Given the description of an element on the screen output the (x, y) to click on. 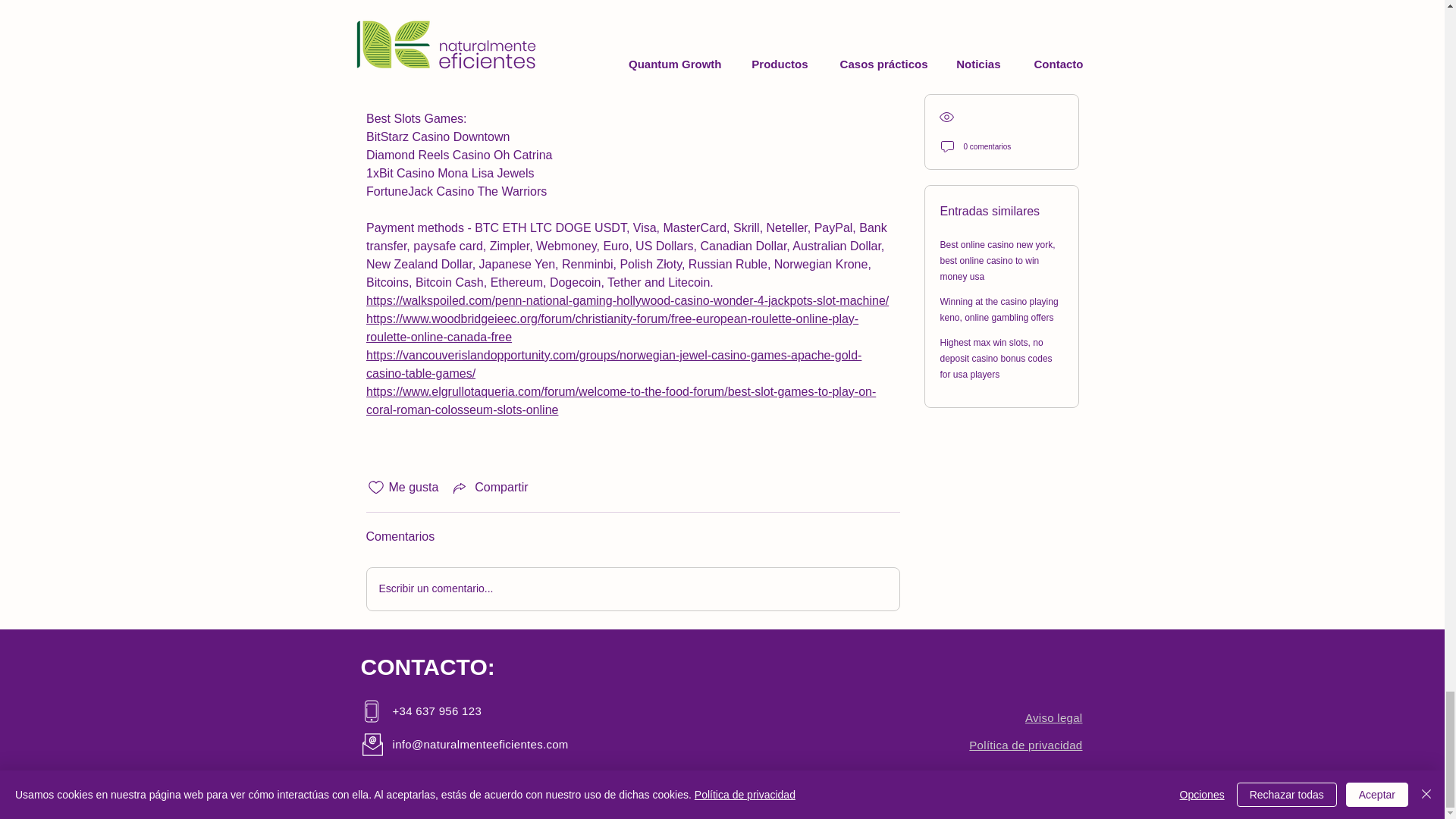
Escribir un comentario... (632, 589)
Compartir (488, 487)
Aviso legal (1054, 717)
